Given the description of an element on the screen output the (x, y) to click on. 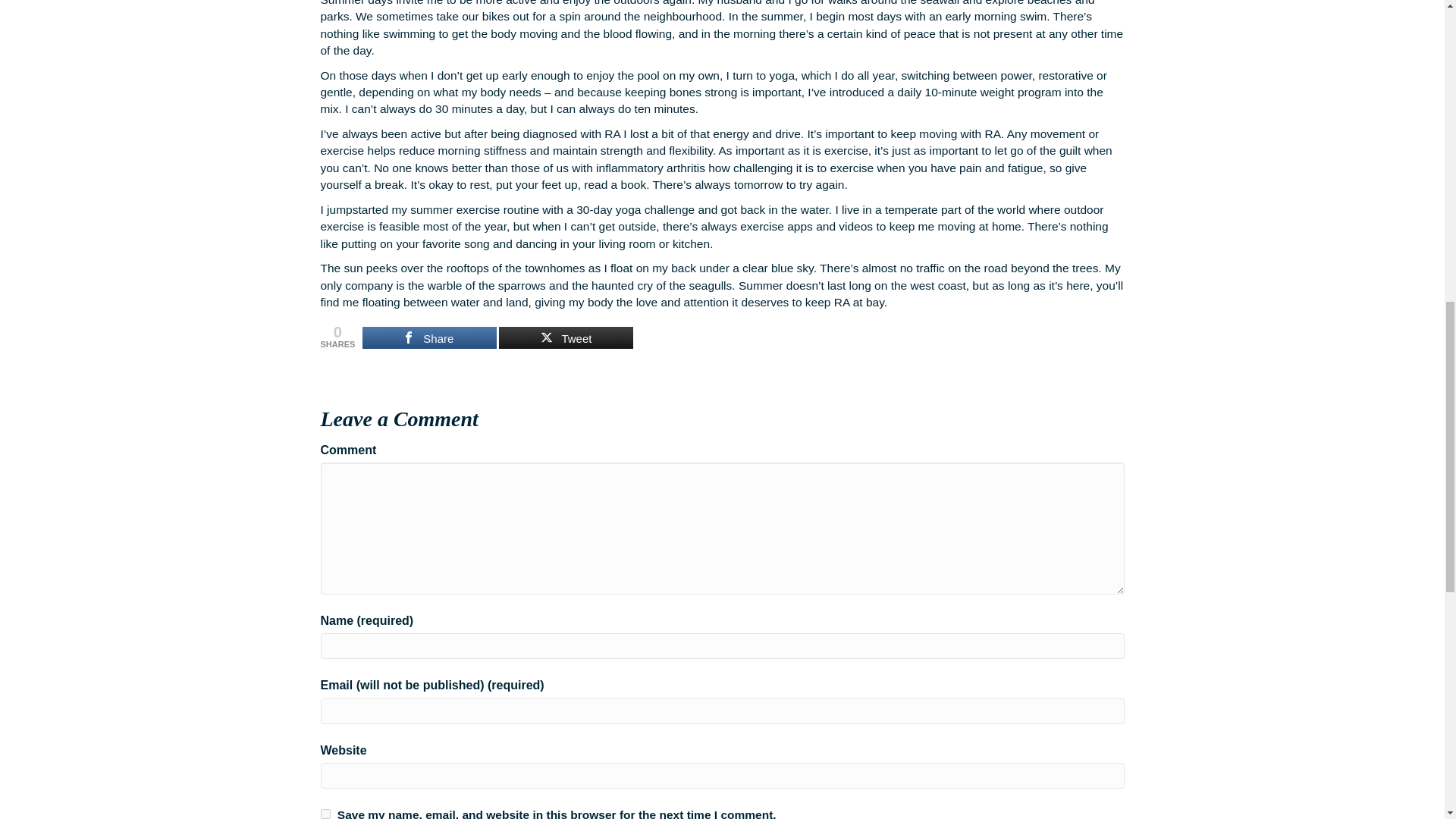
yes (325, 814)
Share  (429, 337)
Tweet (566, 337)
